Given the description of an element on the screen output the (x, y) to click on. 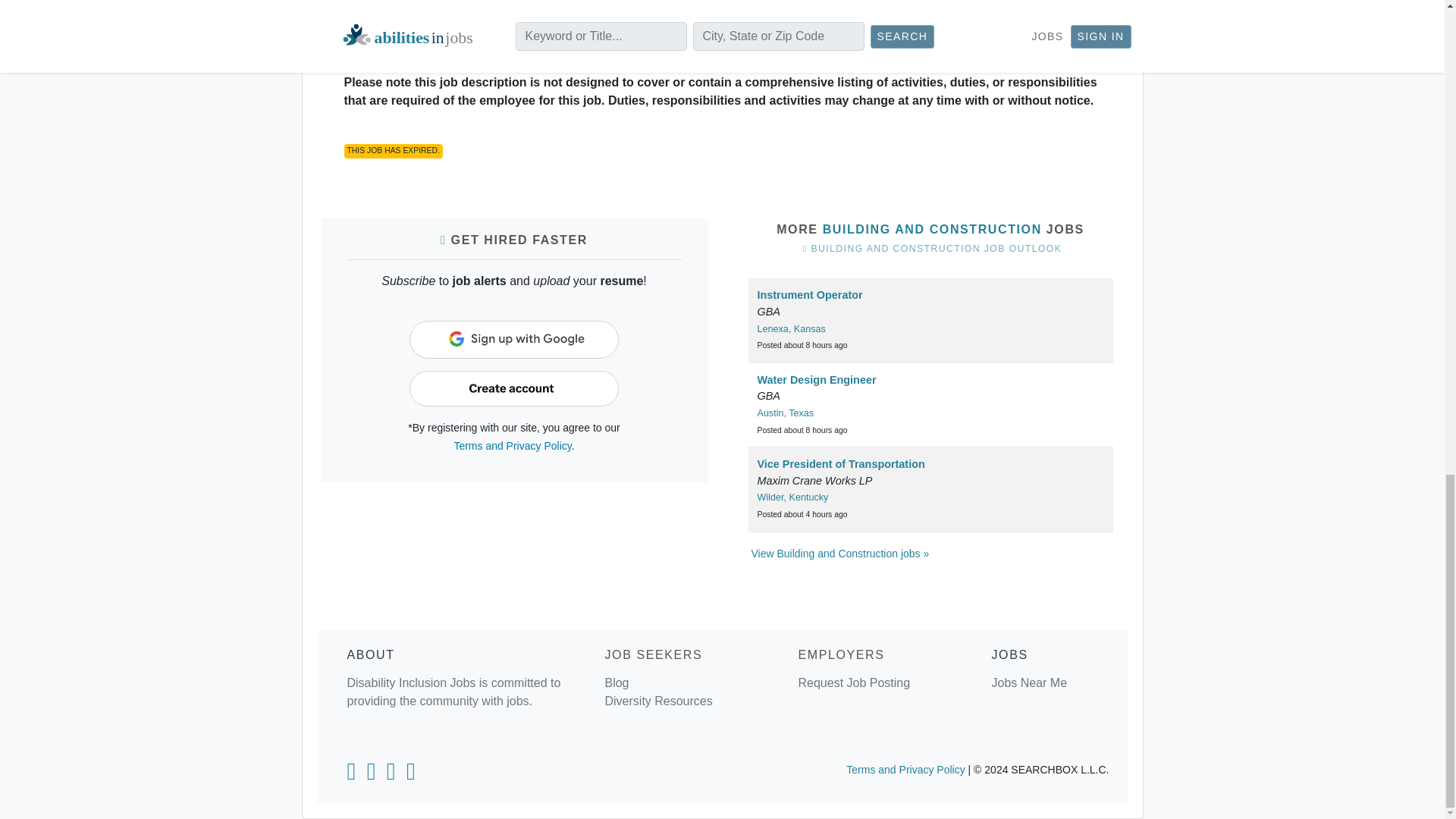
ABOUT (370, 654)
Wilder, Kentucky (792, 497)
Link to LinkedIn (350, 775)
Instrument Operator (809, 295)
Link to Facebook (371, 775)
Lenexa, Kansas (791, 328)
Diversity Resources (657, 700)
Terms and Privacy Policy (511, 445)
Austin, Texas (785, 412)
Blog (616, 682)
